Given the description of an element on the screen output the (x, y) to click on. 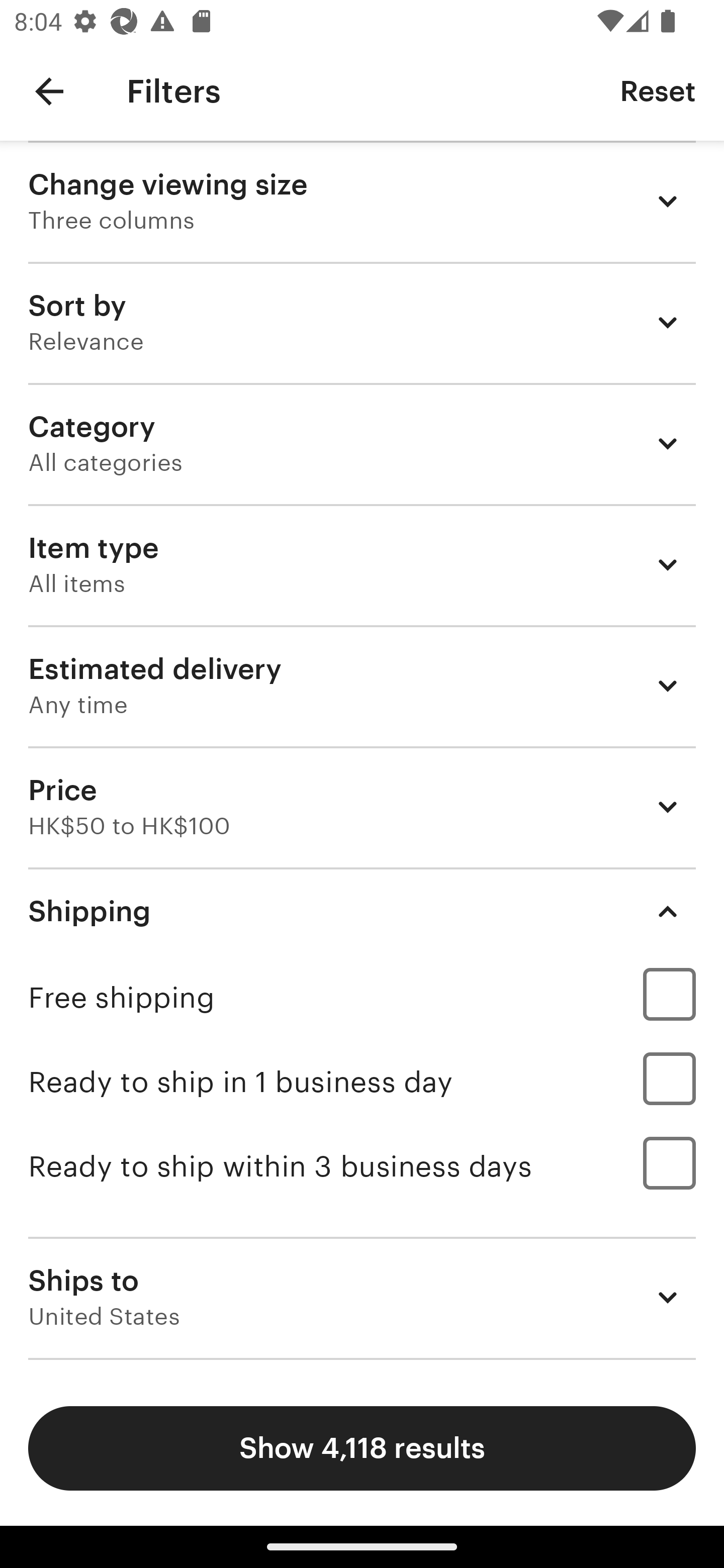
Navigate up (49, 91)
Reset (657, 90)
Change viewing size Three columns (362, 201)
Sort by Relevance (362, 321)
Category All categories (362, 442)
Item type All items (362, 564)
Estimated delivery Any time (362, 685)
Price HK$50 to HK$100 (362, 806)
Shipping (362, 910)
Free shipping (362, 996)
Ready to ship in 1 business day (362, 1081)
Ready to ship within 3 business days (362, 1166)
Ships to United States (362, 1297)
Show 4,118 results Show results (361, 1448)
